Given the description of an element on the screen output the (x, y) to click on. 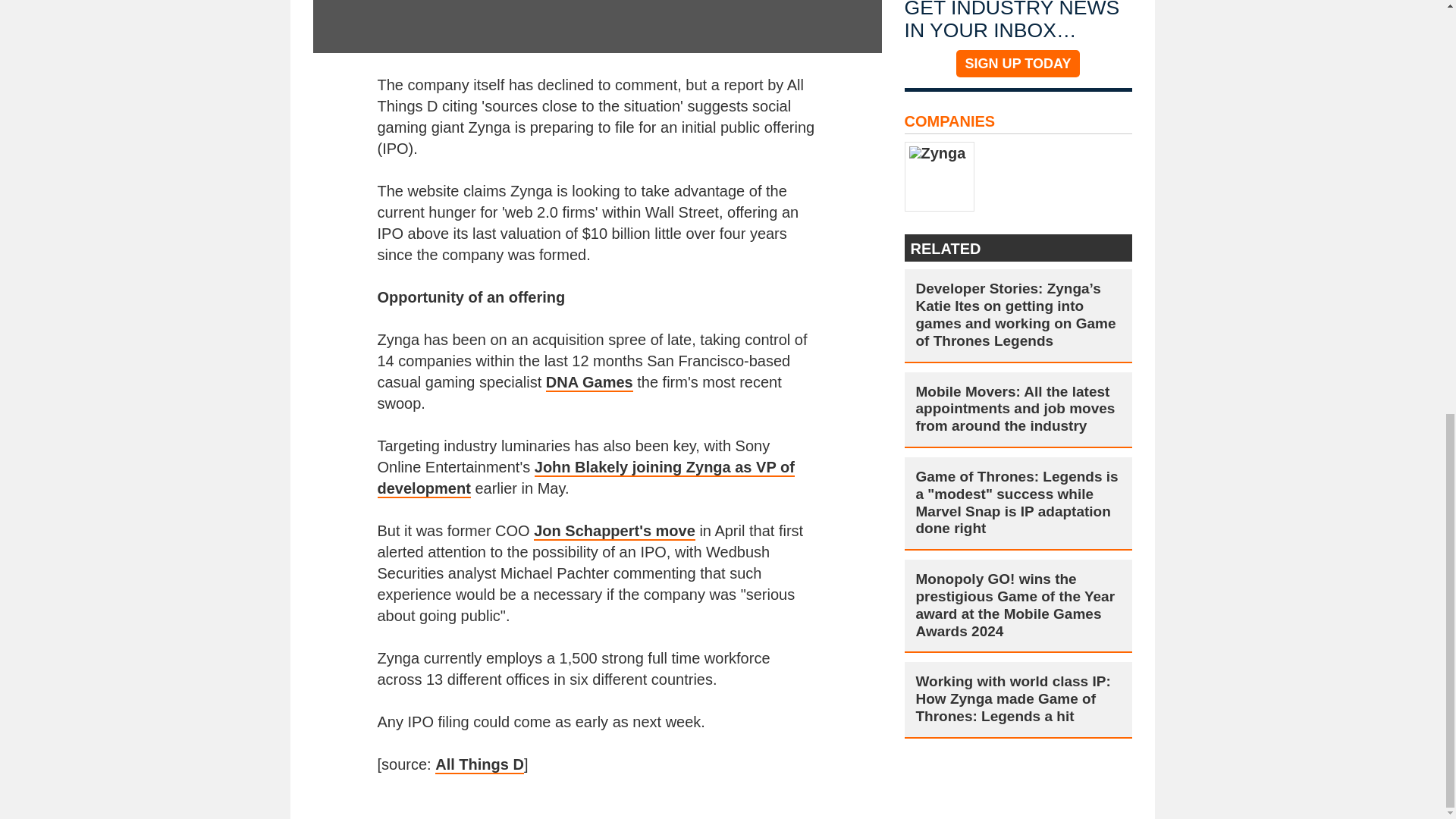
John Blakely joining Zynga as VP of development (585, 477)
Jon Schappert's move (614, 531)
DNA Games (589, 382)
All Things D (479, 764)
